Given the description of an element on the screen output the (x, y) to click on. 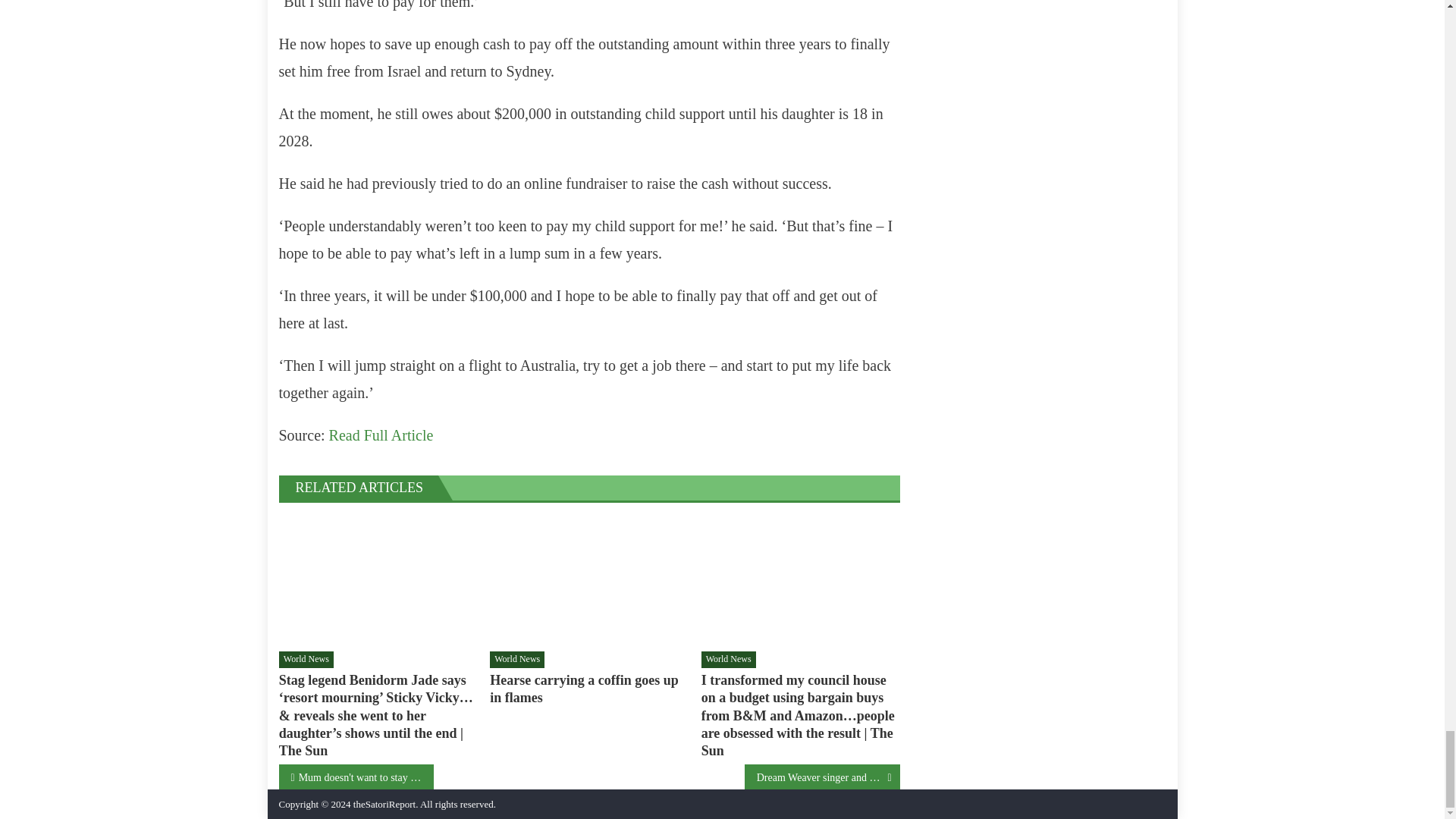
World News (516, 659)
theSatoriReport (383, 803)
Hearse carrying a coffin goes up in flames (588, 579)
World News (728, 659)
Read Full Article (381, 434)
World News (306, 659)
theSatoriReport (383, 803)
Hearse carrying a coffin goes up in flames (588, 689)
